Given the description of an element on the screen output the (x, y) to click on. 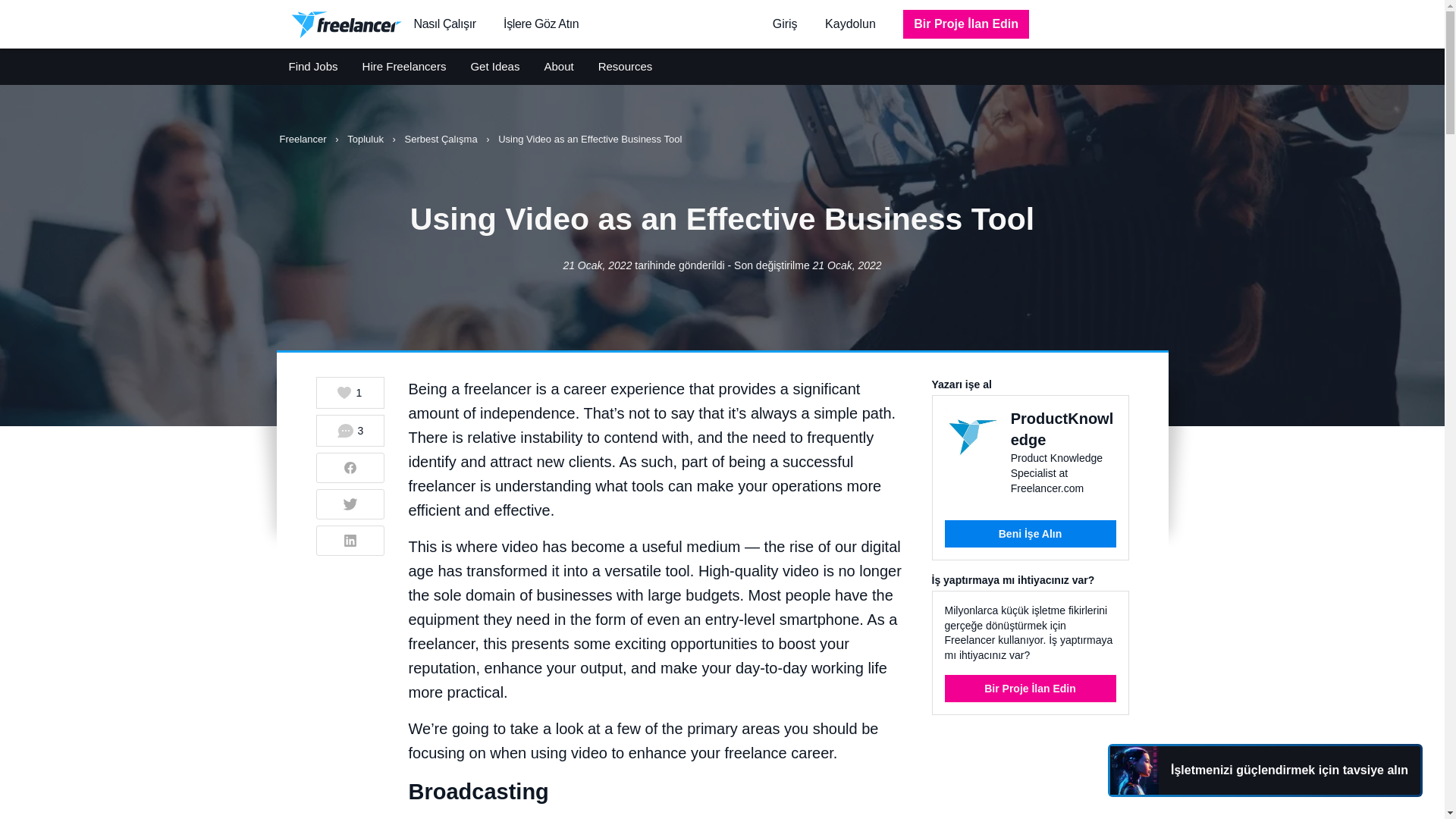
Topluluk (366, 138)
Hire Freelancers (404, 66)
Freelancer (304, 138)
3 (349, 430)
Resources (625, 66)
Get Ideas (494, 66)
Using Video as an Effective Business Tool (589, 138)
Find Jobs (312, 66)
Kaydolun (850, 23)
ProductKnowledge (1061, 428)
